Given the description of an element on the screen output the (x, y) to click on. 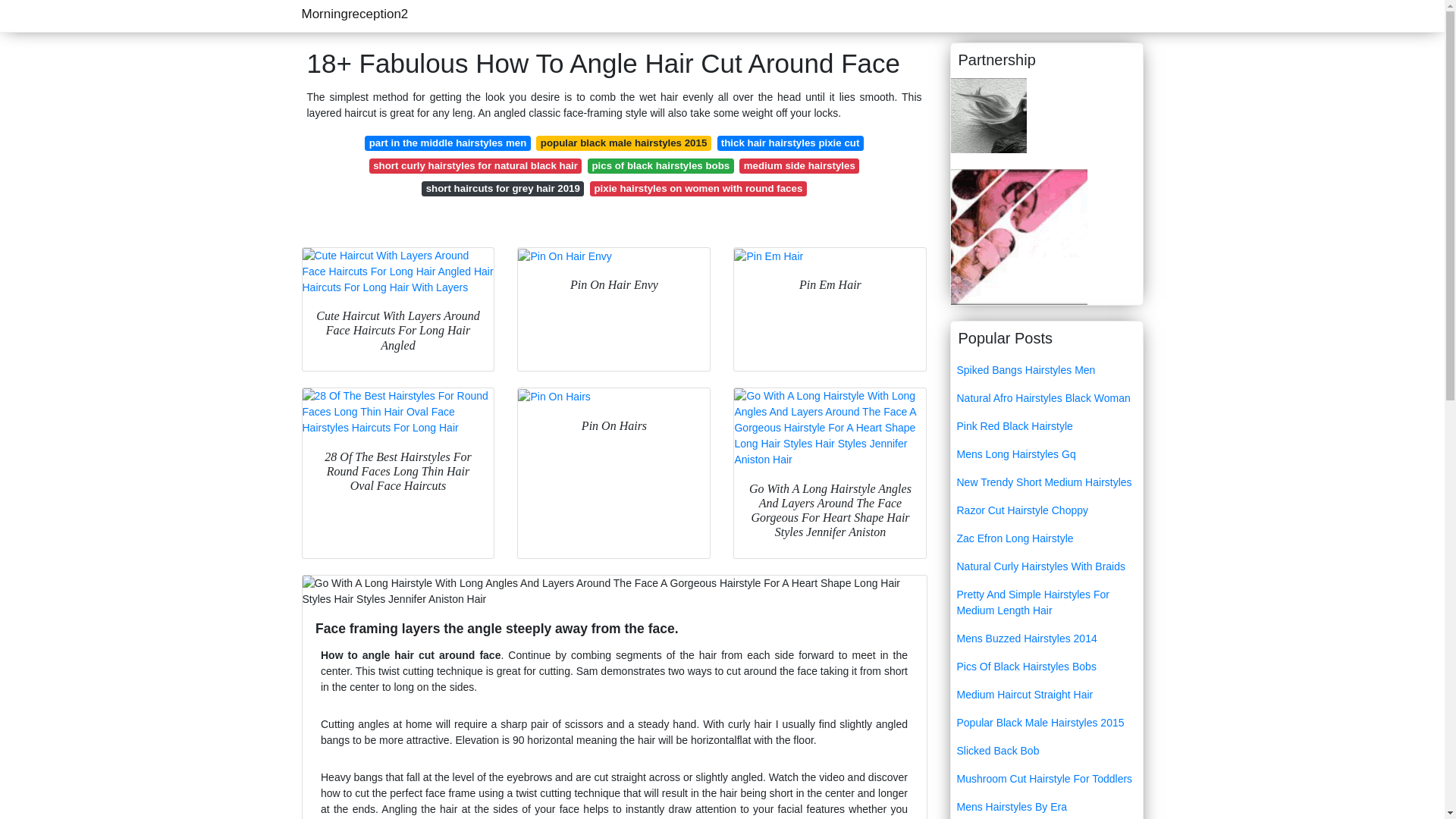
Pics Of Black Hairstyles Bobs (1046, 666)
part in the middle hairstyles men (447, 142)
New Trendy Short Medium Hairstyles (1046, 482)
Mens Buzzed Hairstyles 2014 (1046, 638)
Pink Red Black Hairstyle (1046, 426)
Natural Afro Hairstyles Black Woman (1046, 398)
Percentageproduce19 (988, 114)
pixie hairstyles on women with round faces (697, 188)
Popular Black Male Hairstyles 2015 (1046, 723)
short haircuts for grey hair 2019 (502, 188)
Zac Efron Long Hairstyle (1046, 538)
Morningreception2 (355, 13)
Cooperationweight4 (1018, 235)
Razor Cut Hairstyle Choppy (1046, 510)
pics of black hairstyles bobs (660, 165)
